Given the description of an element on the screen output the (x, y) to click on. 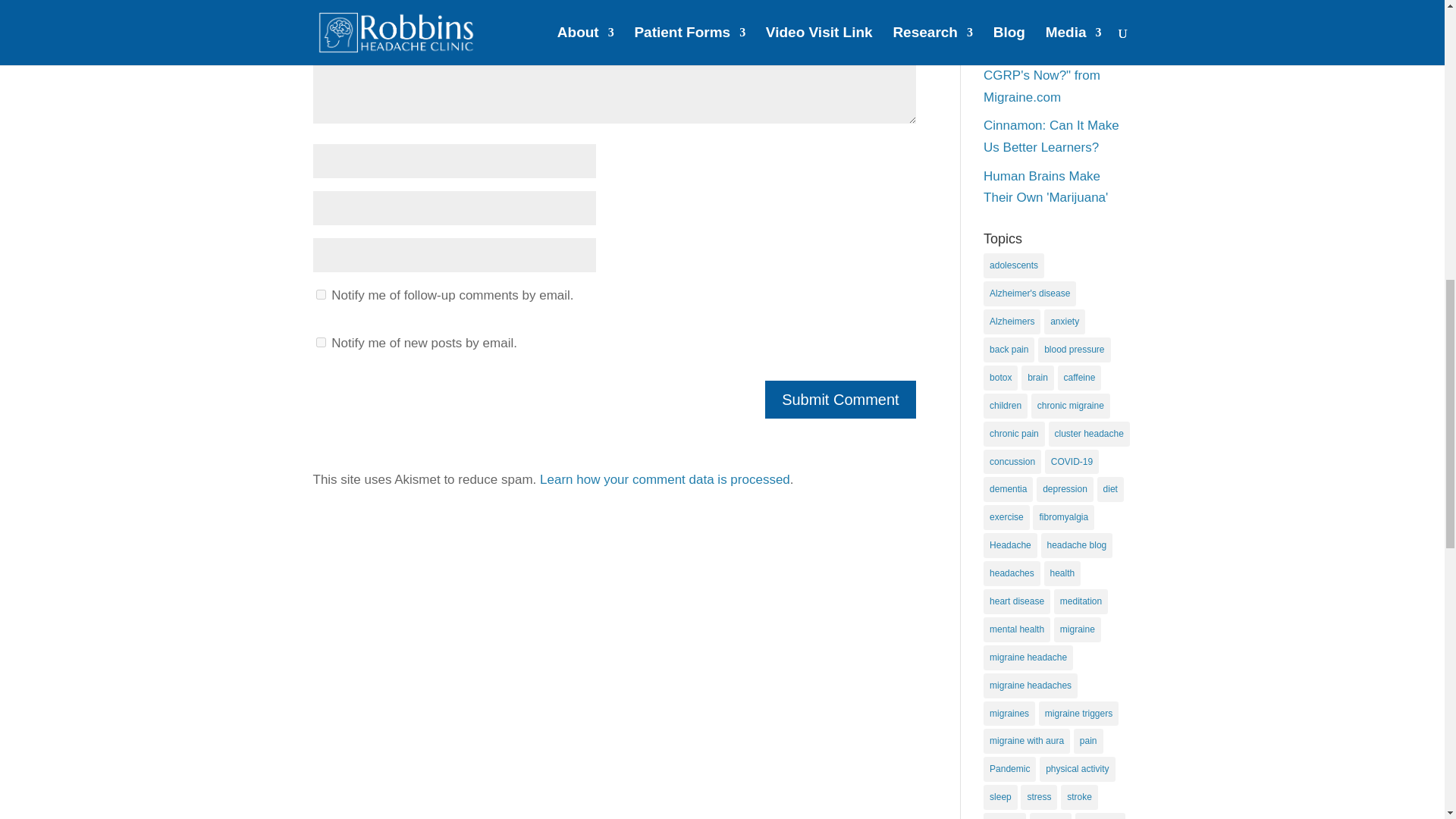
subscribe (319, 342)
subscribe (319, 294)
Submit Comment (840, 399)
